Given the description of an element on the screen output the (x, y) to click on. 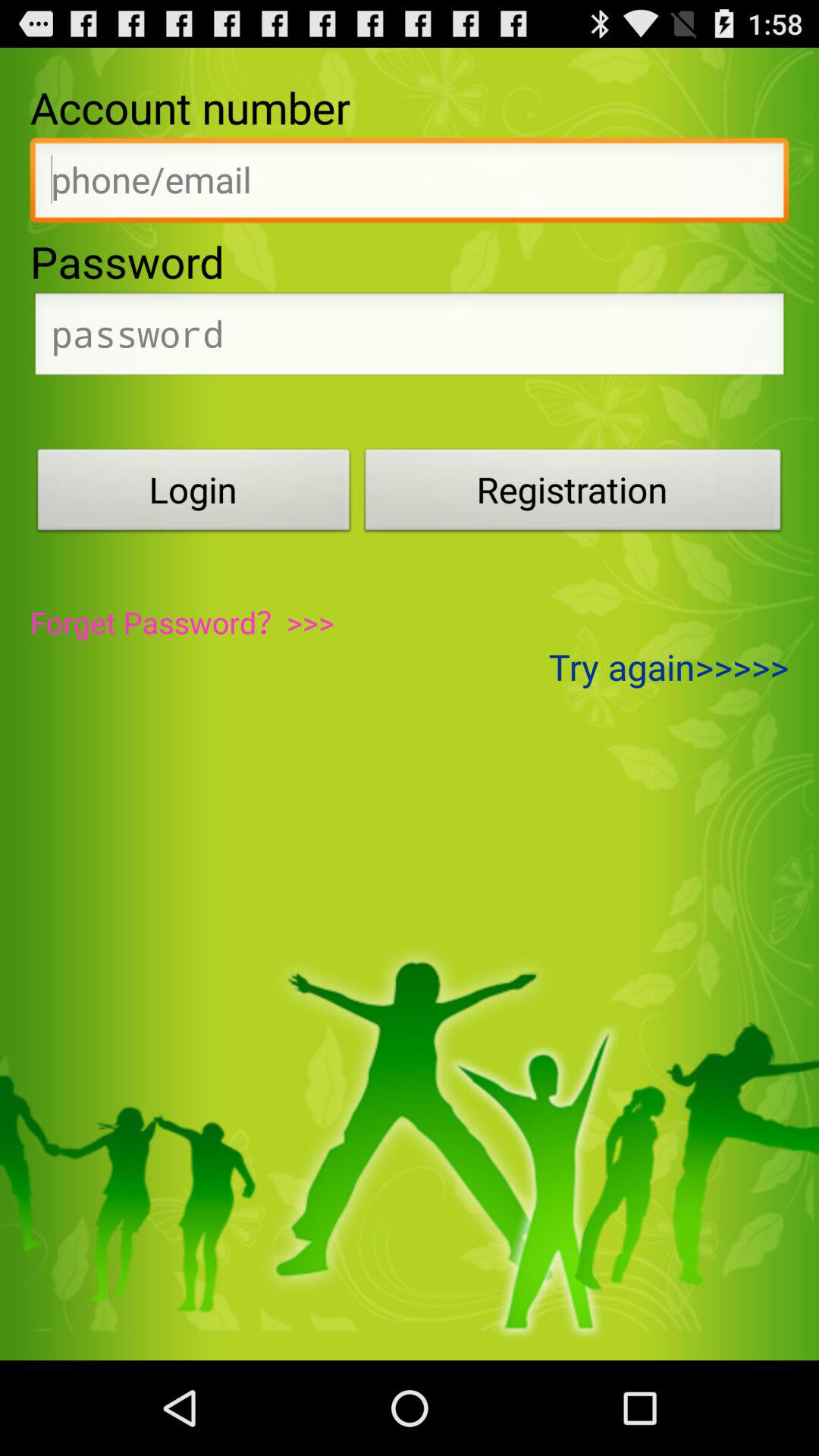
turn on the item next to try again>>>>> item (182, 622)
